Given the description of an element on the screen output the (x, y) to click on. 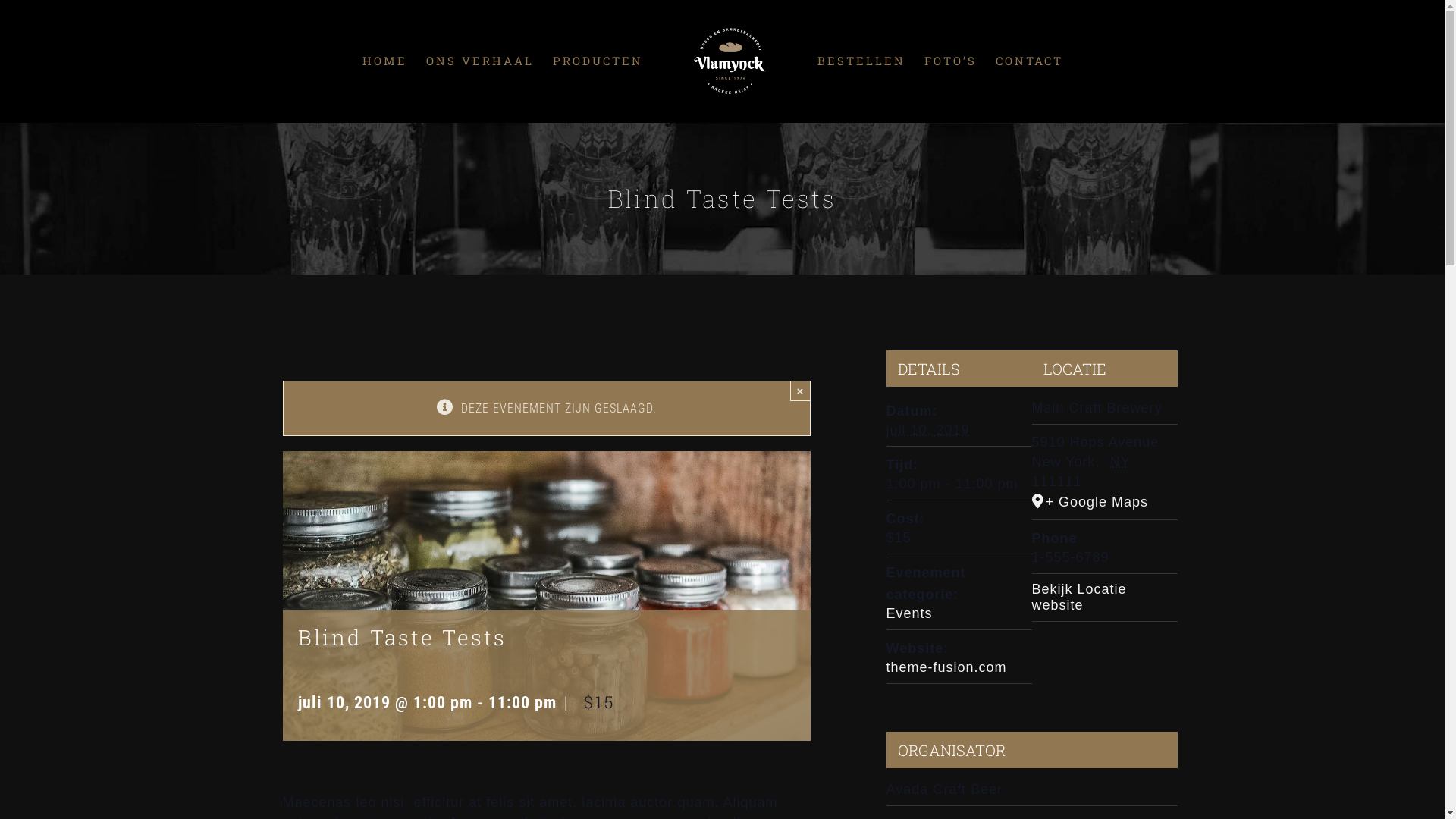
Bekijk Locatie website Element type: text (1078, 596)
theme-fusion.com Element type: text (945, 666)
HOME Element type: text (384, 61)
+ Google Maps Element type: text (1103, 501)
ONS VERHAAL Element type: text (479, 61)
BESTELLEN Element type: text (861, 61)
CONTACT Element type: text (1029, 61)
Events Element type: text (908, 613)
PRODUCTEN Element type: text (597, 61)
